Given the description of an element on the screen output the (x, y) to click on. 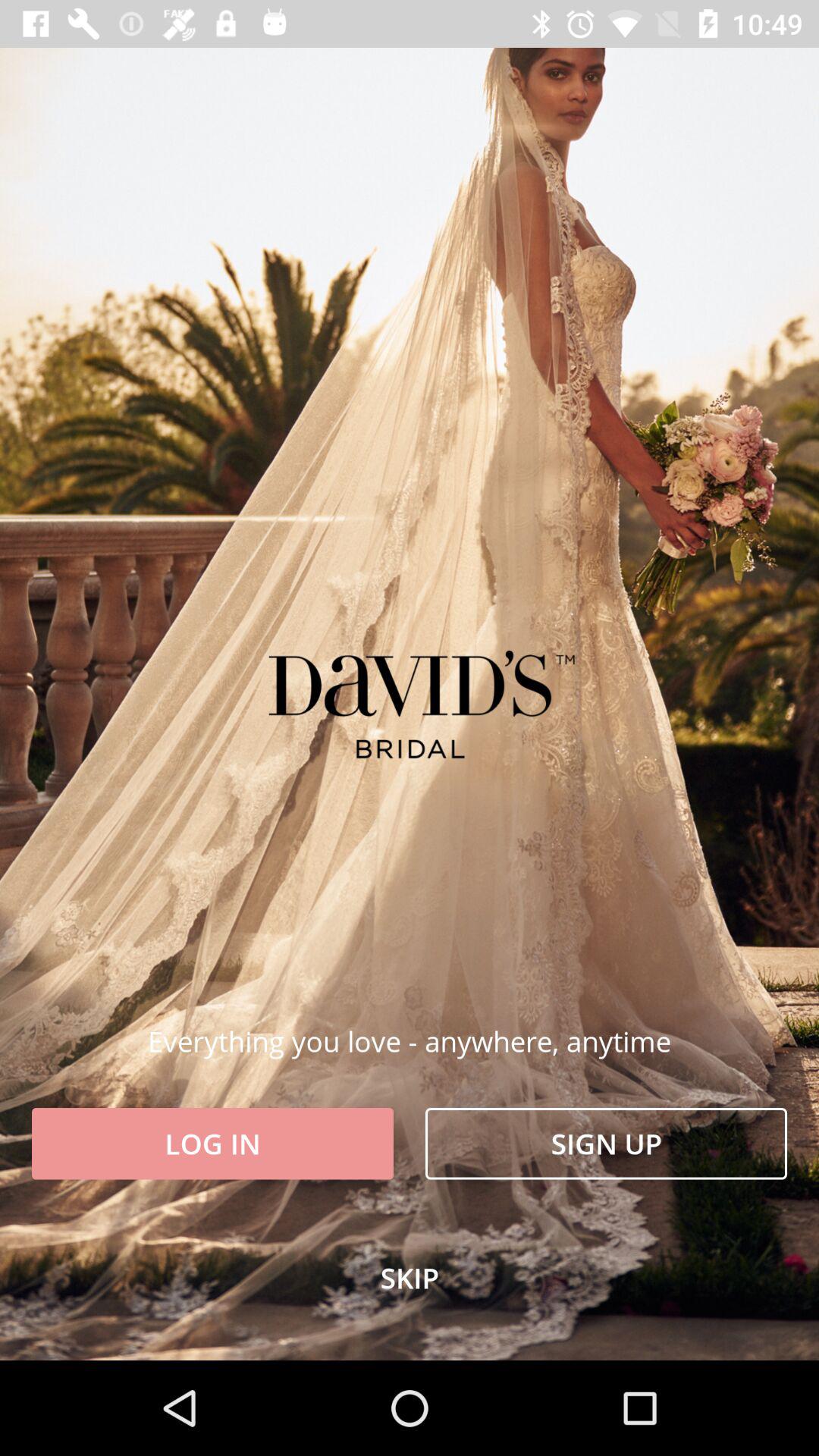
select the item next to log in icon (606, 1143)
